Given the description of an element on the screen output the (x, y) to click on. 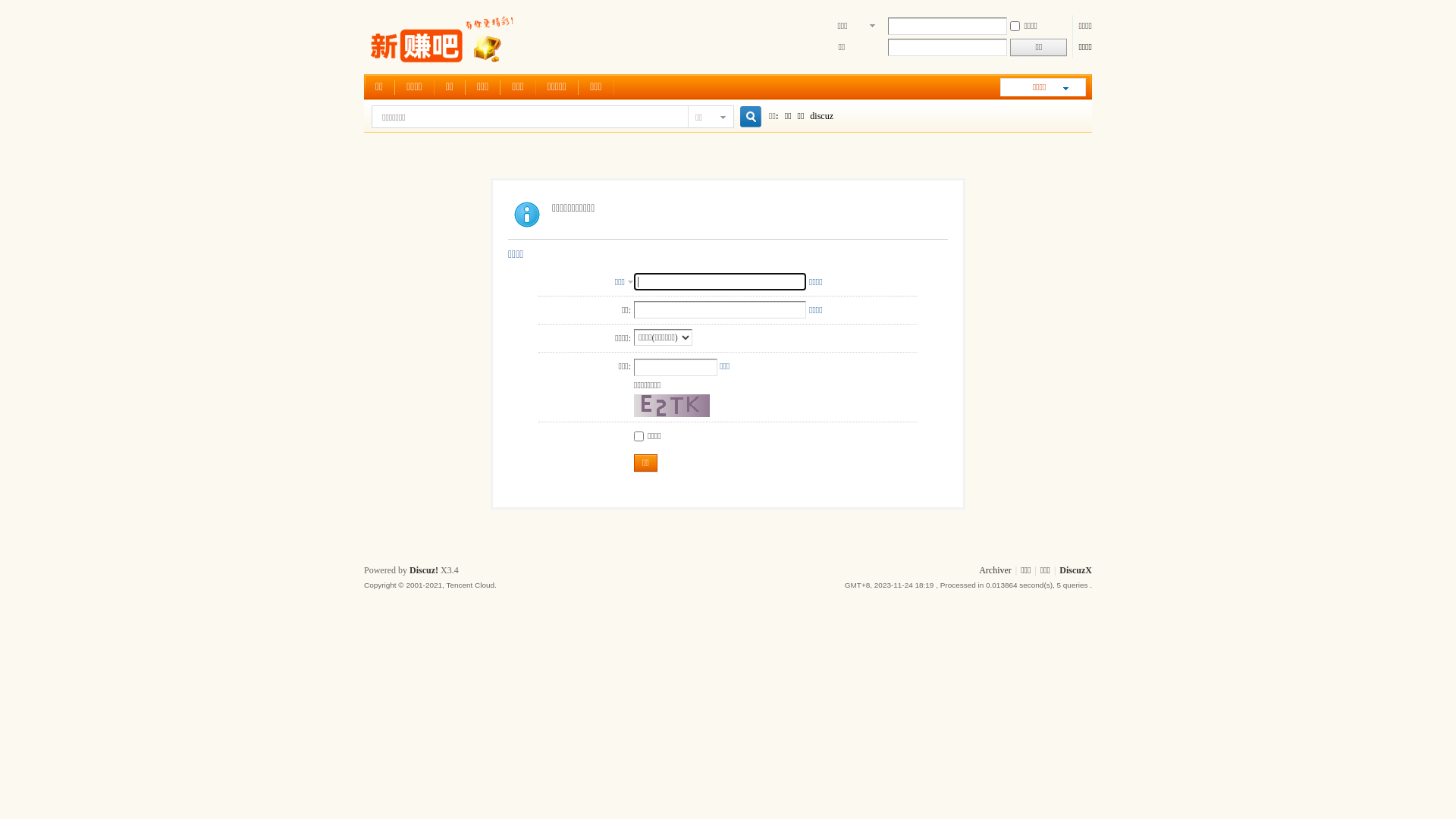
DiscuzX Element type: text (1075, 569)
Discuz! Board Element type: hover (444, 64)
Archiver Element type: text (995, 569)
discuz Element type: text (821, 115)
Discuz! Element type: text (423, 569)
true Element type: text (745, 116)
